Given the description of an element on the screen output the (x, y) to click on. 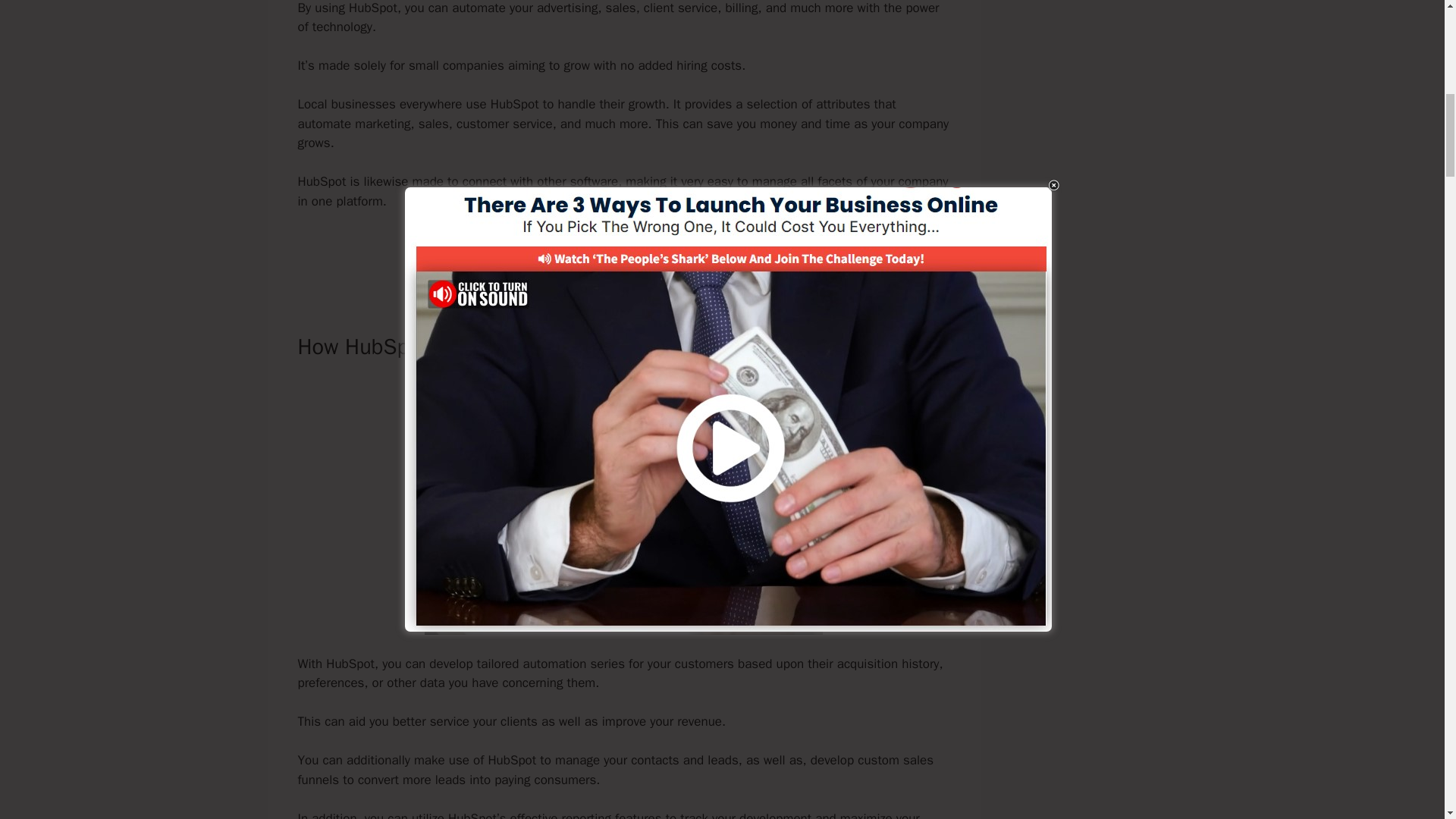
Click Here To Watch HubSpot In Action (623, 253)
